Given the description of an element on the screen output the (x, y) to click on. 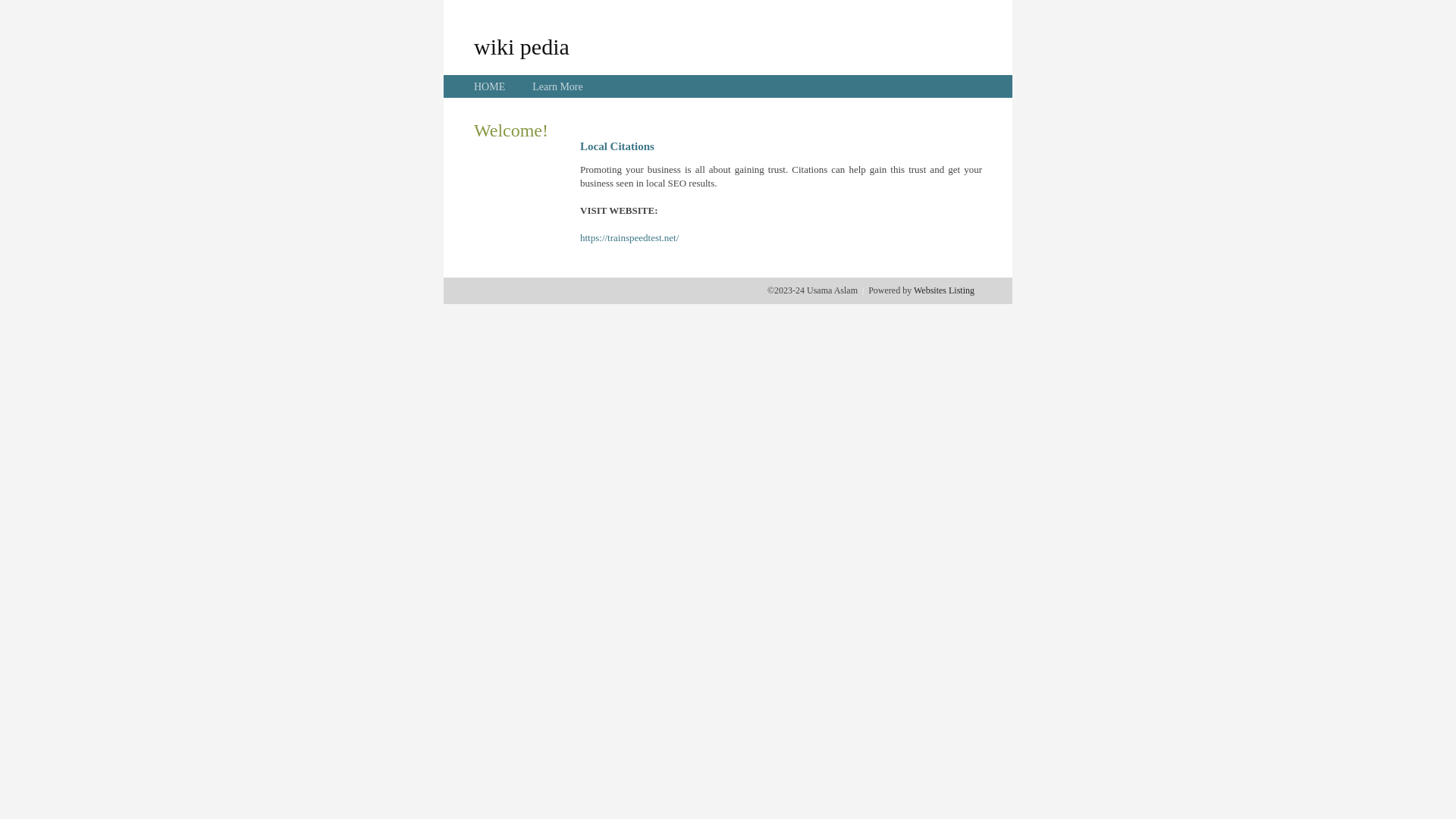
https://trainspeedtest.net/ Element type: text (629, 237)
wiki pedia Element type: text (521, 46)
Learn More Element type: text (557, 86)
Websites Listing Element type: text (943, 290)
HOME Element type: text (489, 86)
